Given the description of an element on the screen output the (x, y) to click on. 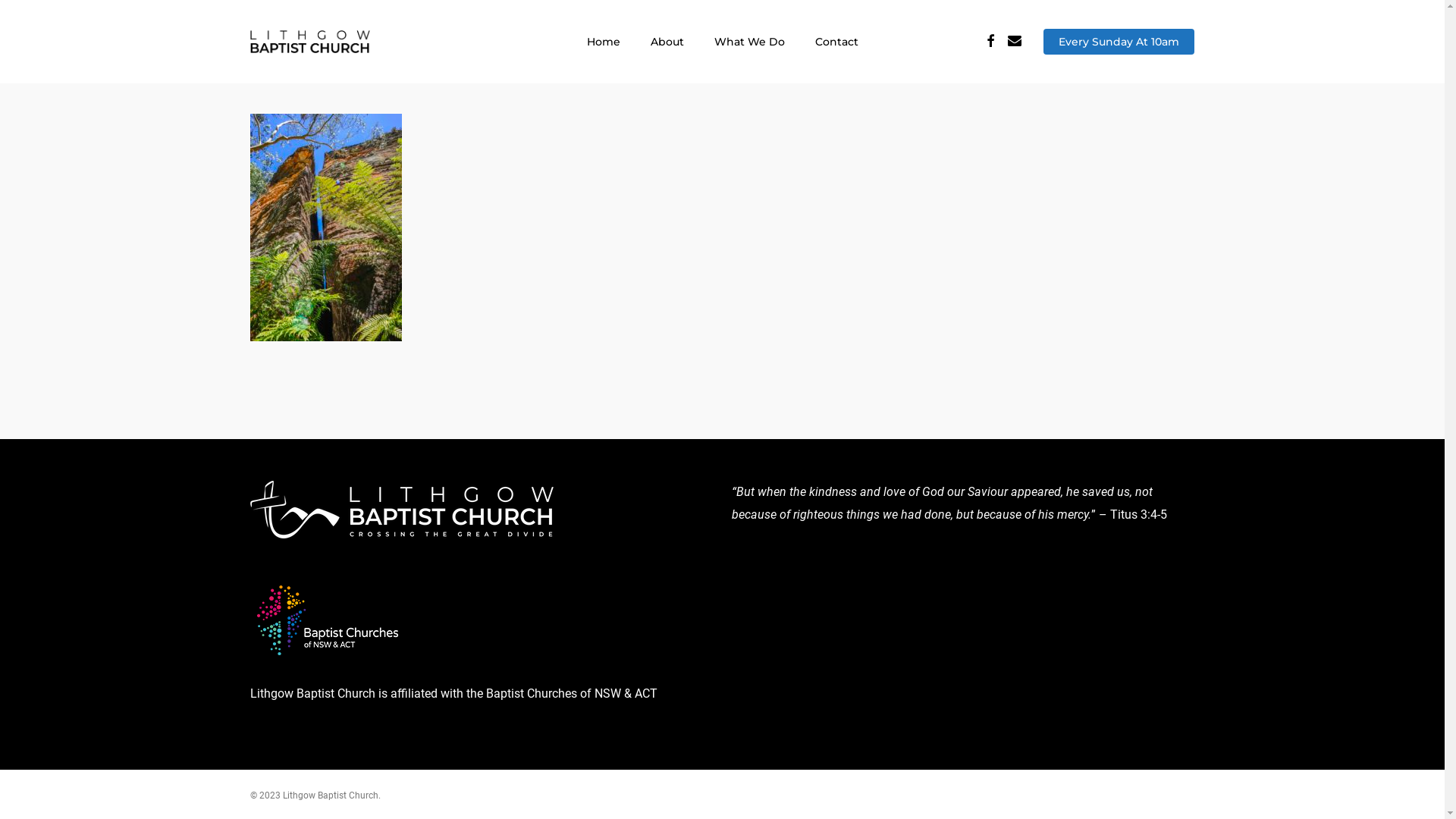
Home Element type: text (603, 41)
Contact Element type: text (835, 41)
Every Sunday At 10am Element type: text (1118, 41)
Email Element type: text (1014, 41)
What We Do Element type: text (749, 41)
About Element type: text (667, 41)
Facebook Element type: text (990, 41)
